Given the description of an element on the screen output the (x, y) to click on. 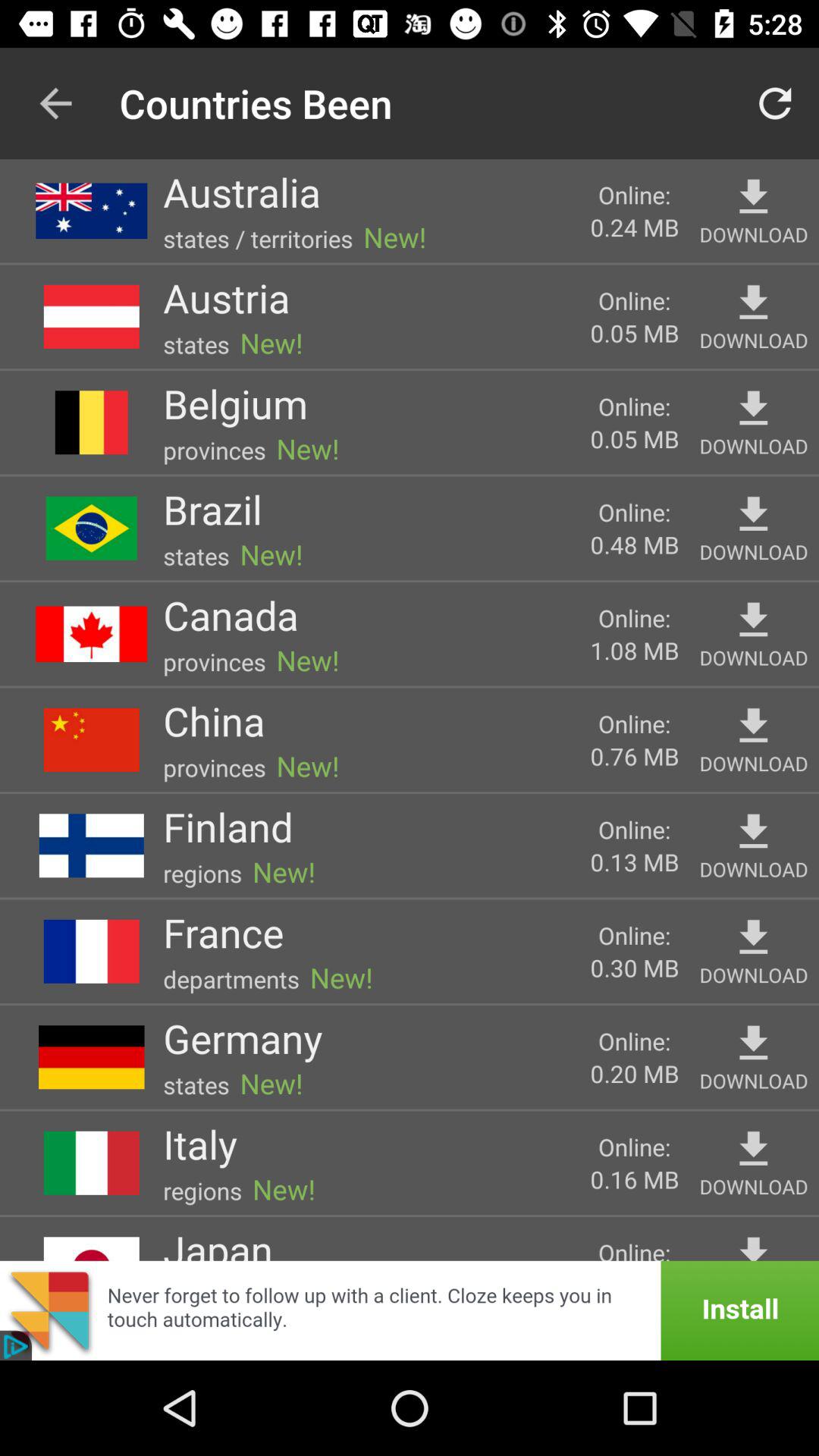
download (753, 303)
